Given the description of an element on the screen output the (x, y) to click on. 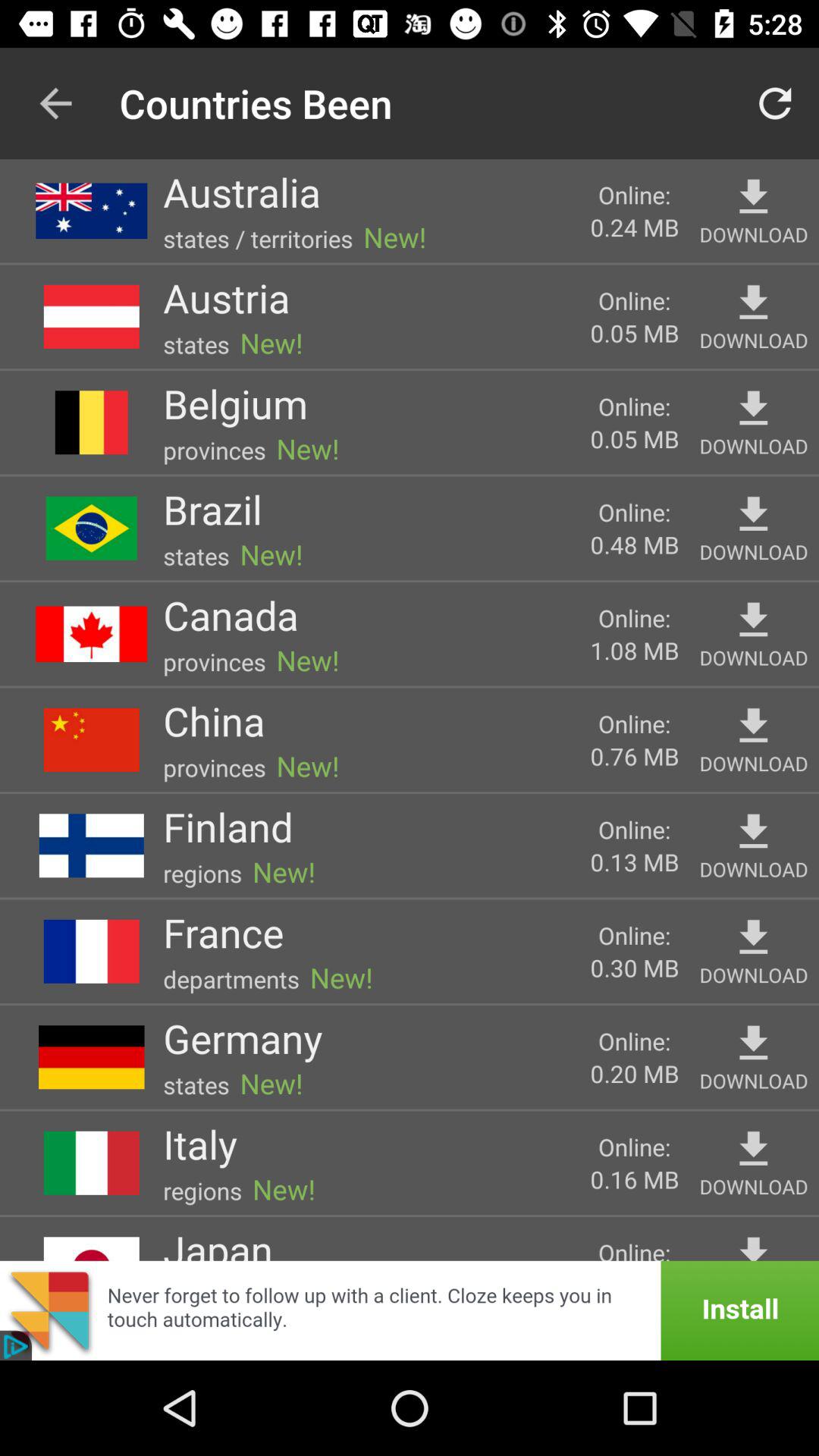
download (753, 303)
